Given the description of an element on the screen output the (x, y) to click on. 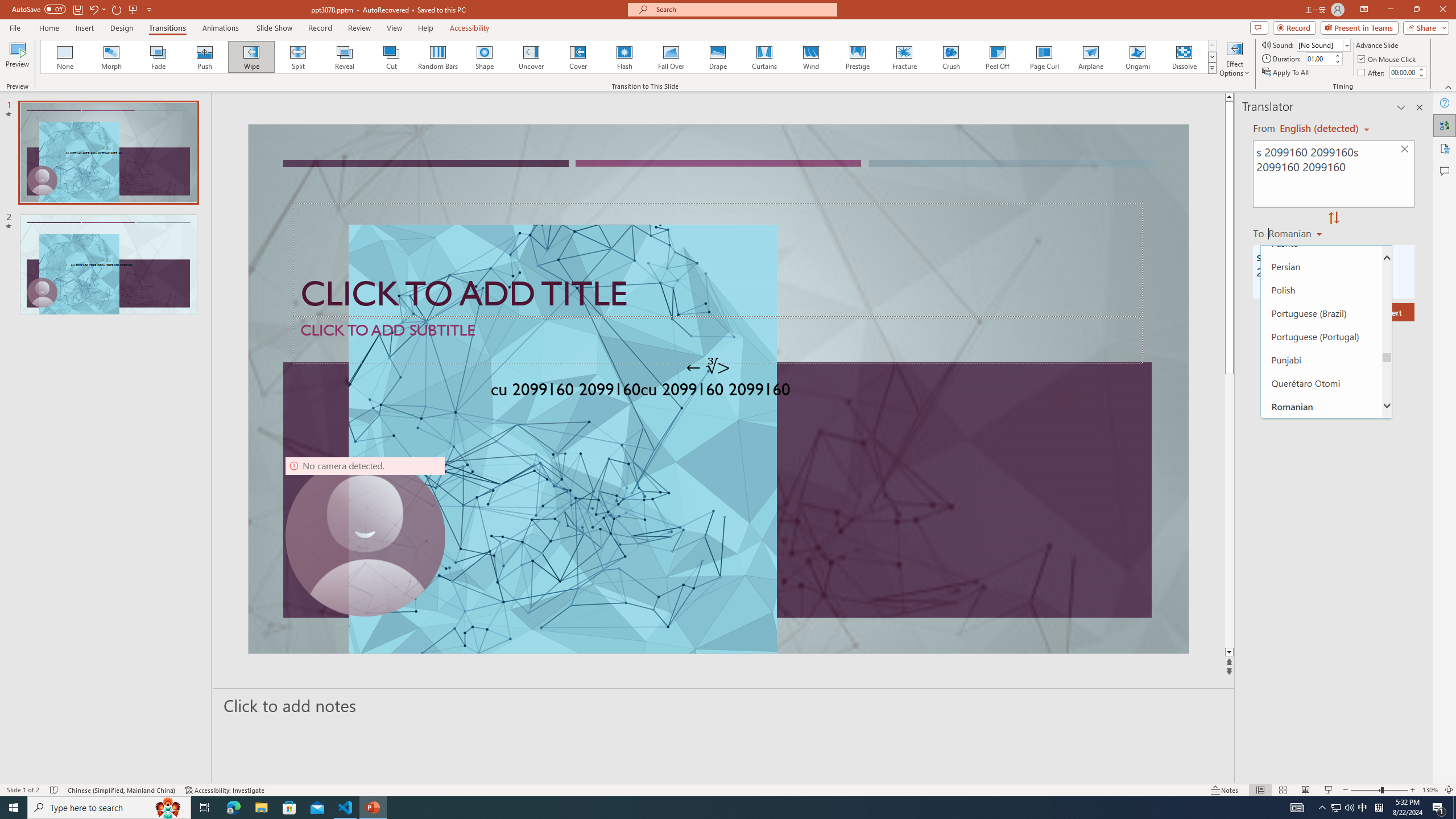
Source Control (Ctrl+Shift+G) (76, 309)
Ports - 26 forwarded ports (662, 533)
Extensions (Ctrl+Shift+X) (76, 397)
